Given the description of an element on the screen output the (x, y) to click on. 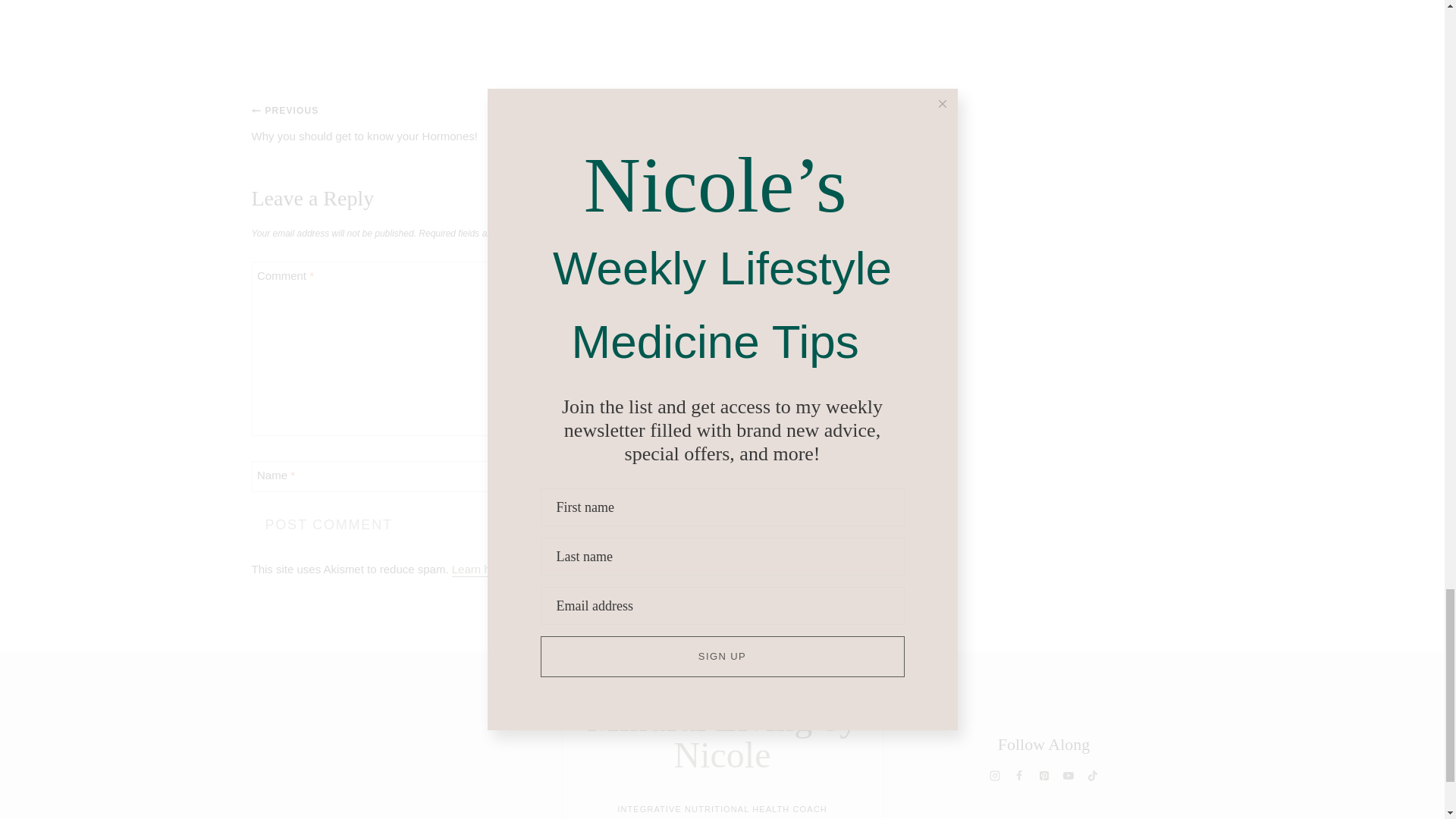
Post Comment (328, 524)
